Given the description of an element on the screen output the (x, y) to click on. 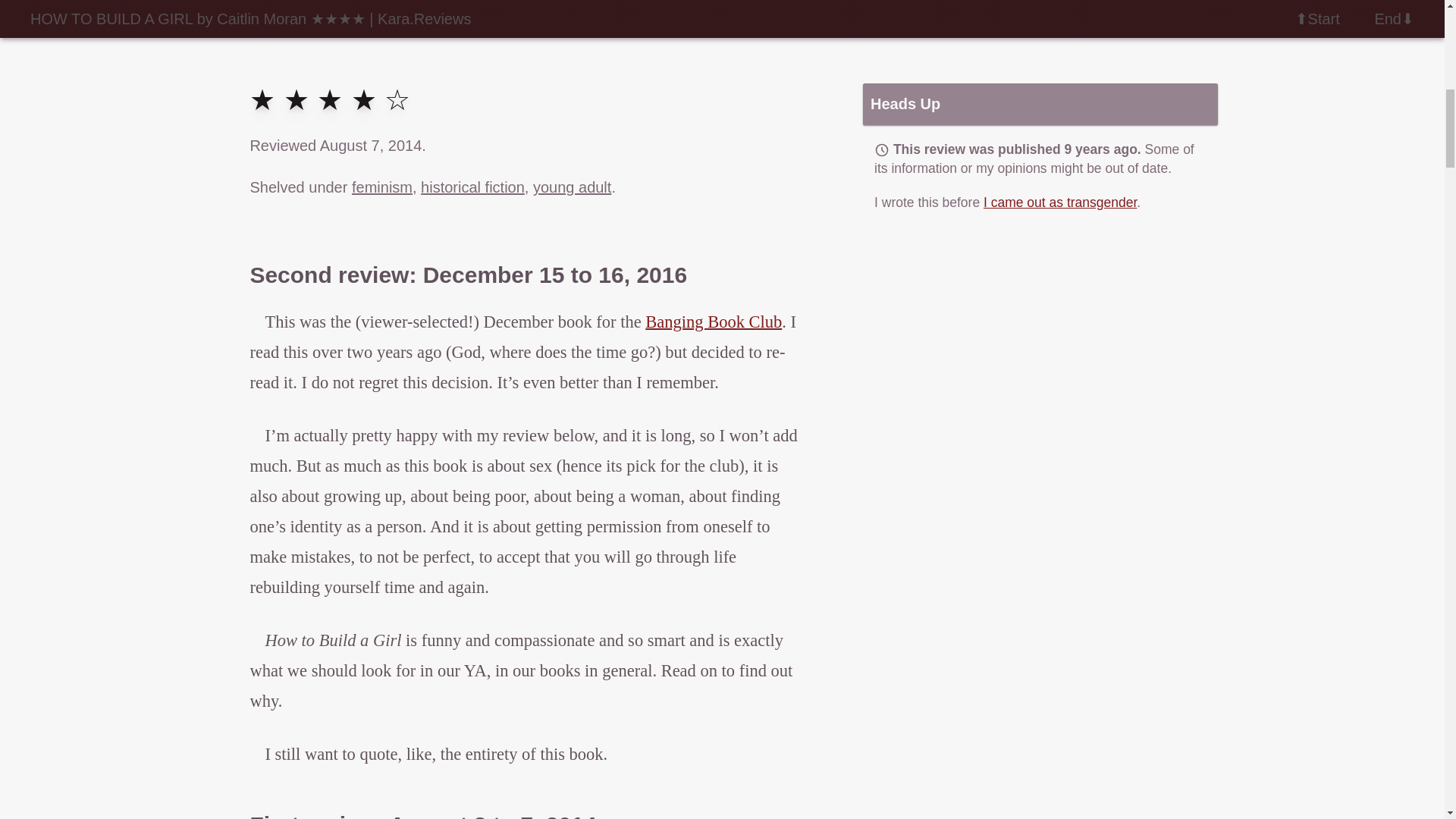
Banging Book Club (713, 321)
feminism (382, 187)
young adult (571, 187)
I came out as transgender (1060, 201)
historical fiction (472, 187)
